Given the description of an element on the screen output the (x, y) to click on. 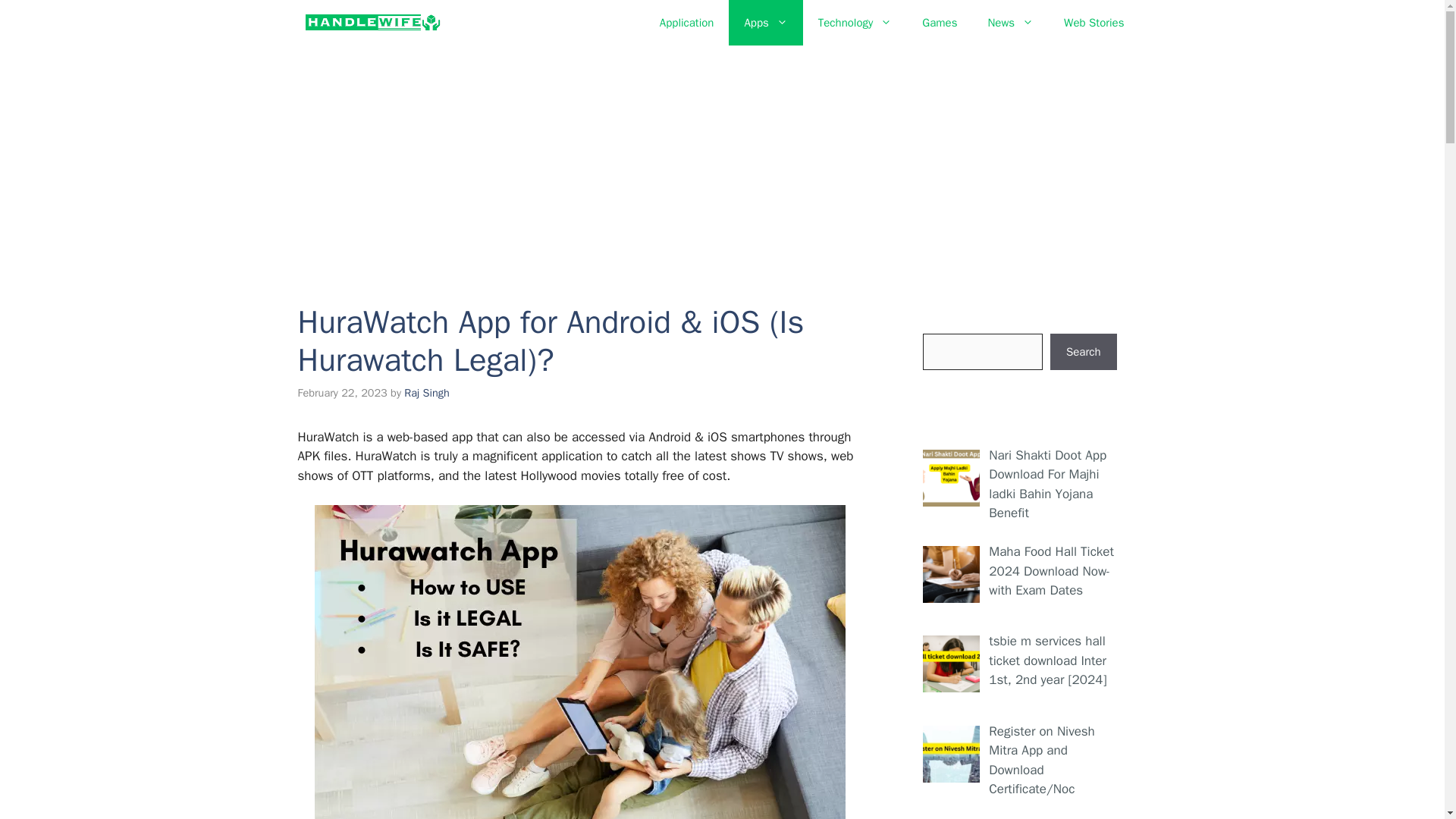
Handlewife.com (372, 22)
Web Stories (1093, 22)
Raj Singh (426, 392)
Apps (765, 22)
Games (939, 22)
Application (687, 22)
News (1010, 22)
View all posts by Raj Singh (426, 392)
Technology (855, 22)
